Given the description of an element on the screen output the (x, y) to click on. 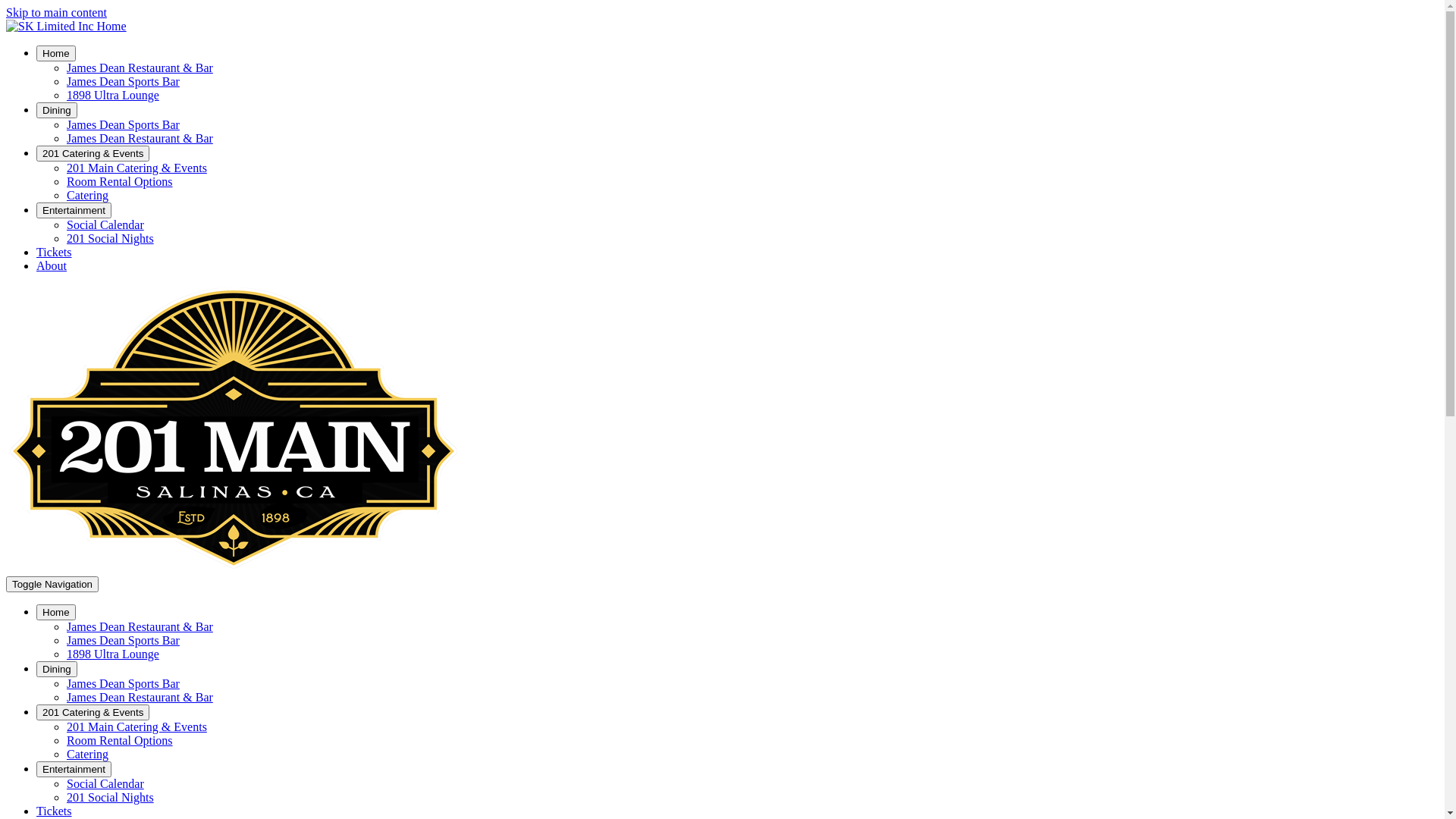
201 Social Nights Element type: text (109, 796)
James Dean Restaurant & Bar Element type: text (139, 626)
201 Catering & Events Element type: text (92, 153)
Tickets Element type: text (54, 810)
1898 Ultra Lounge Element type: text (112, 653)
201 Catering & Events Element type: text (92, 712)
Toggle Navigation Element type: text (52, 584)
James Dean Sports Bar Element type: text (122, 81)
201 Main Catering & Events Element type: text (136, 167)
About Element type: text (51, 265)
Dining Element type: text (56, 669)
James Dean Restaurant & Bar Element type: text (139, 67)
Room Rental Options Element type: text (119, 181)
James Dean Restaurant & Bar Element type: text (139, 696)
Entertainment Element type: text (73, 210)
James Dean Sports Bar Element type: text (122, 683)
James Dean Restaurant & Bar Element type: text (139, 137)
Dining Element type: text (56, 110)
Social Calendar Element type: text (105, 783)
James Dean Sports Bar Element type: text (122, 124)
Catering Element type: text (87, 194)
Tickets Element type: text (54, 251)
Entertainment Element type: text (73, 769)
Home Element type: text (55, 612)
1898 Ultra Lounge Element type: text (112, 94)
Home Element type: text (55, 53)
201 Social Nights Element type: text (109, 238)
Social Calendar Element type: text (105, 224)
Skip to main content Element type: text (56, 12)
201 Main Catering & Events Element type: text (136, 726)
James Dean Sports Bar Element type: text (122, 639)
Room Rental Options Element type: text (119, 740)
Catering Element type: text (87, 753)
